Given the description of an element on the screen output the (x, y) to click on. 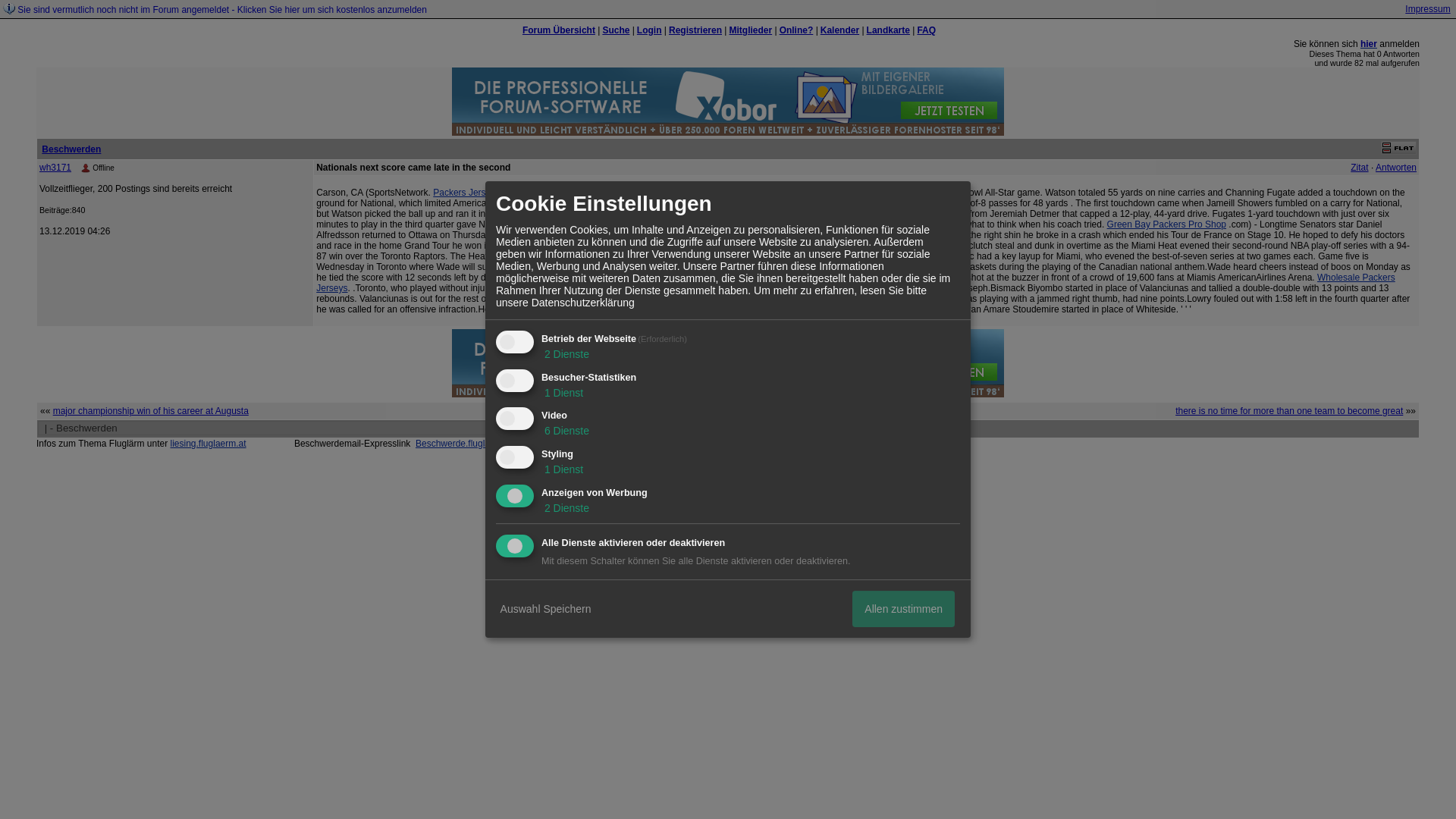
1 Dienst (562, 392)
Landkarte (888, 30)
Erstelle ein eigenes Forum mit Xobor (735, 460)
1 Dienst (562, 469)
Green Bay Packers Pro Shop (1165, 224)
Green Bay Packers Shirts (616, 224)
Zitat (1359, 167)
Kalender (840, 30)
2 Dienste (565, 354)
Mitglieder (750, 30)
Wholesale Packers Jerseys (854, 282)
there is no time for more than one team to become great (1288, 410)
Online? (795, 30)
liesing.fluglaerm.at (208, 443)
